Given the description of an element on the screen output the (x, y) to click on. 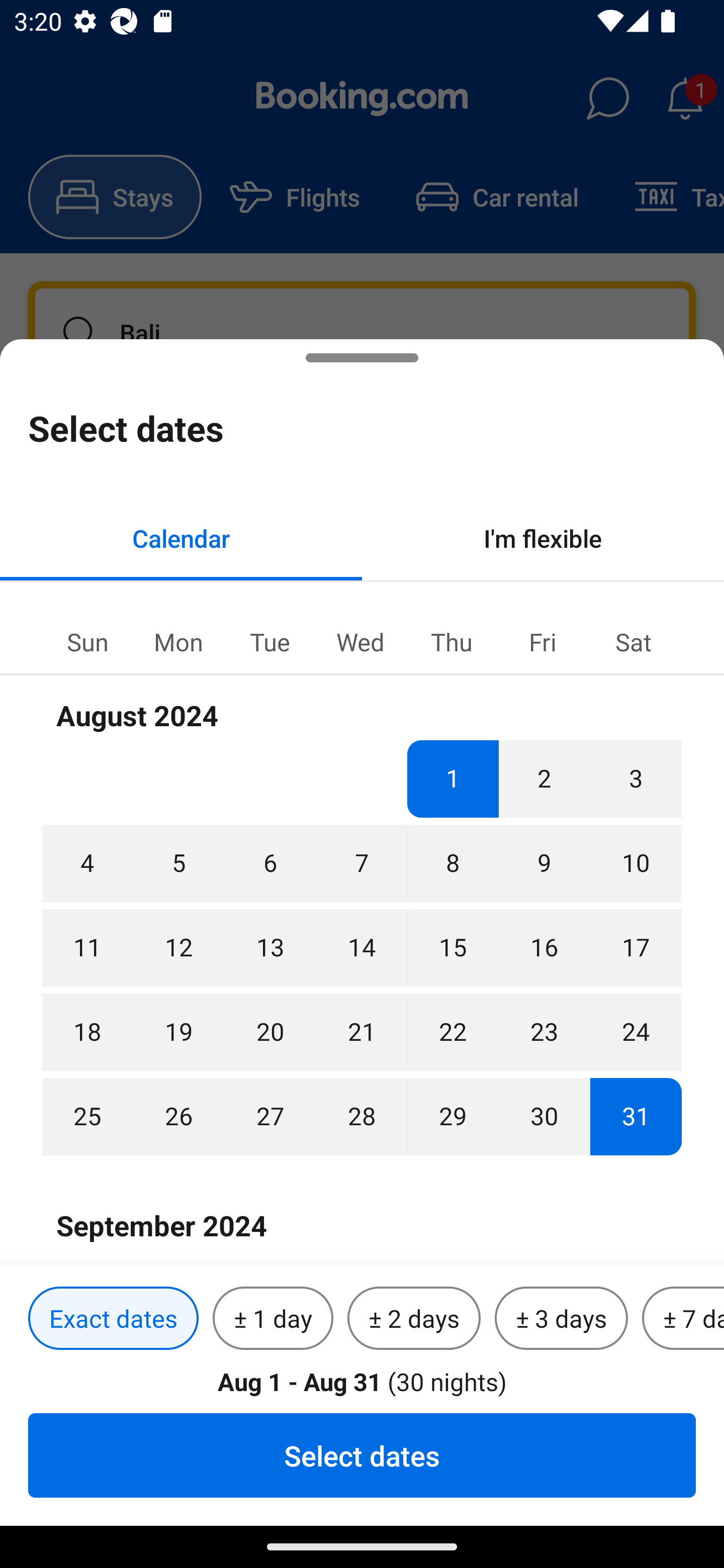
I'm flexible (543, 537)
Exact dates (113, 1318)
± 1 day (272, 1318)
± 2 days (413, 1318)
± 3 days (560, 1318)
± 7 days (683, 1318)
Select dates (361, 1454)
